Given the description of an element on the screen output the (x, y) to click on. 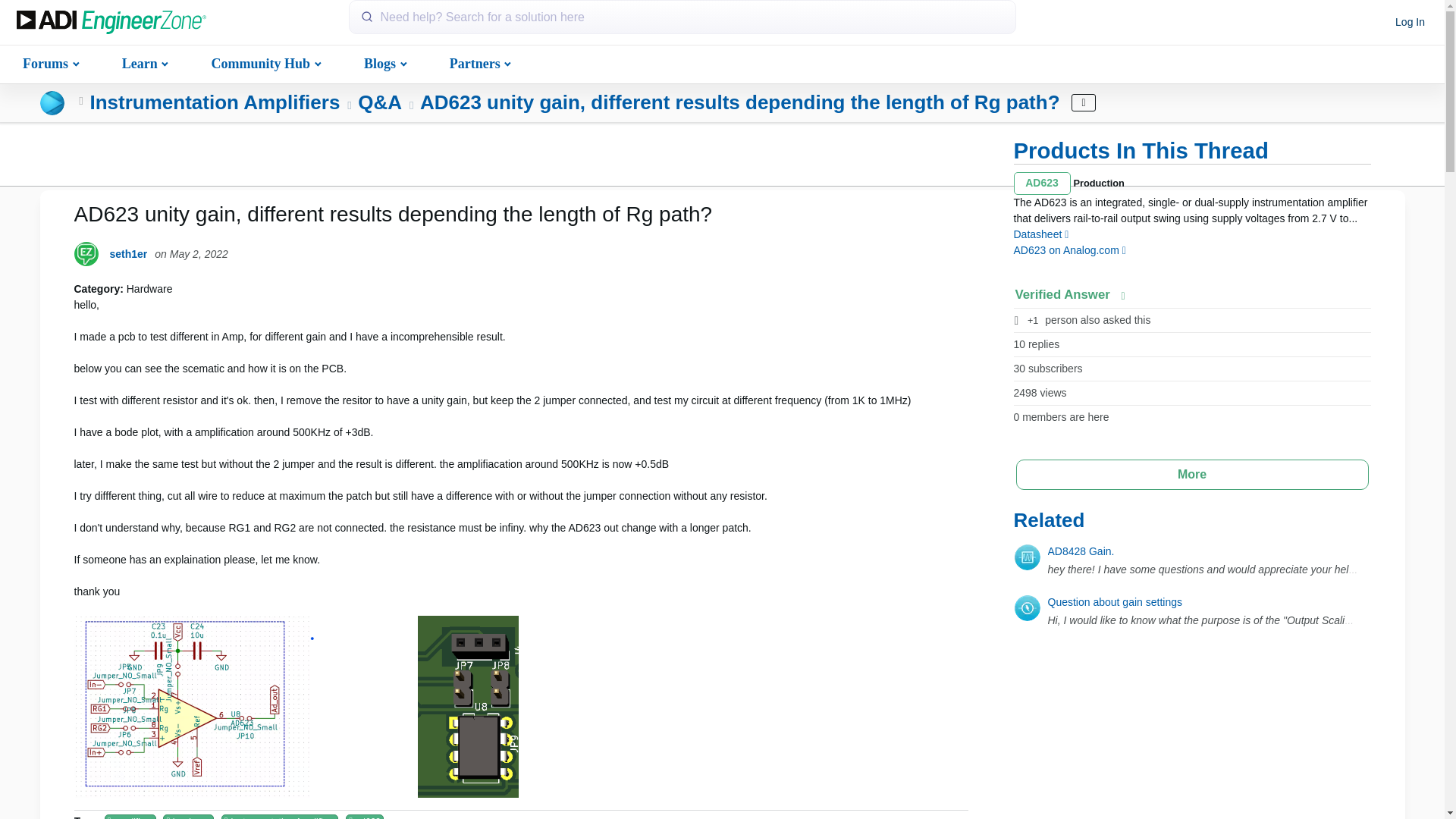
Up to Amplifiers (81, 101)
Home (111, 22)
Forums (49, 62)
Join or sign in (1409, 22)
Log In (1409, 22)
